Given the description of an element on the screen output the (x, y) to click on. 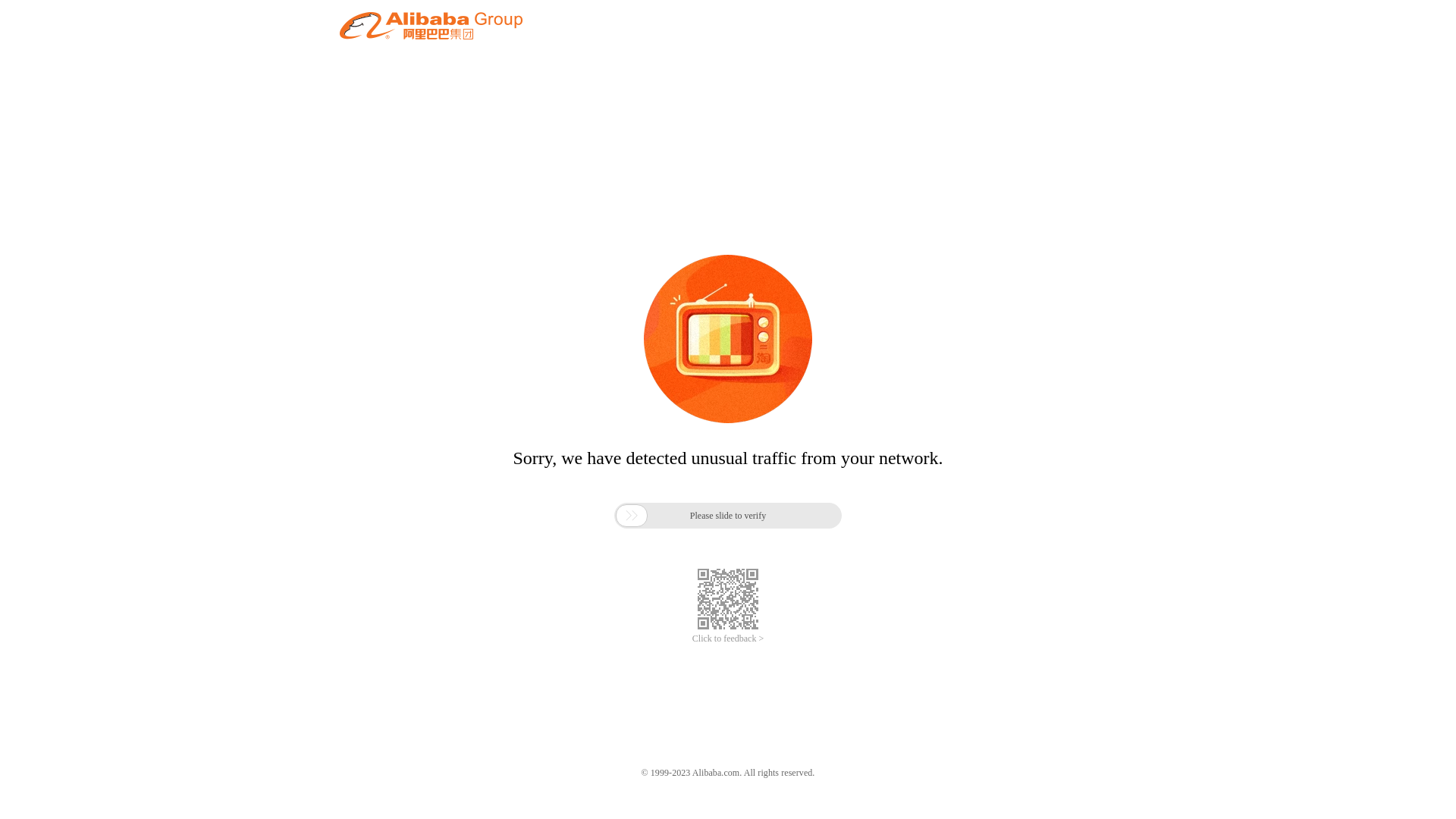
Click to feedback > Element type: text (727, 638)
